Given the description of an element on the screen output the (x, y) to click on. 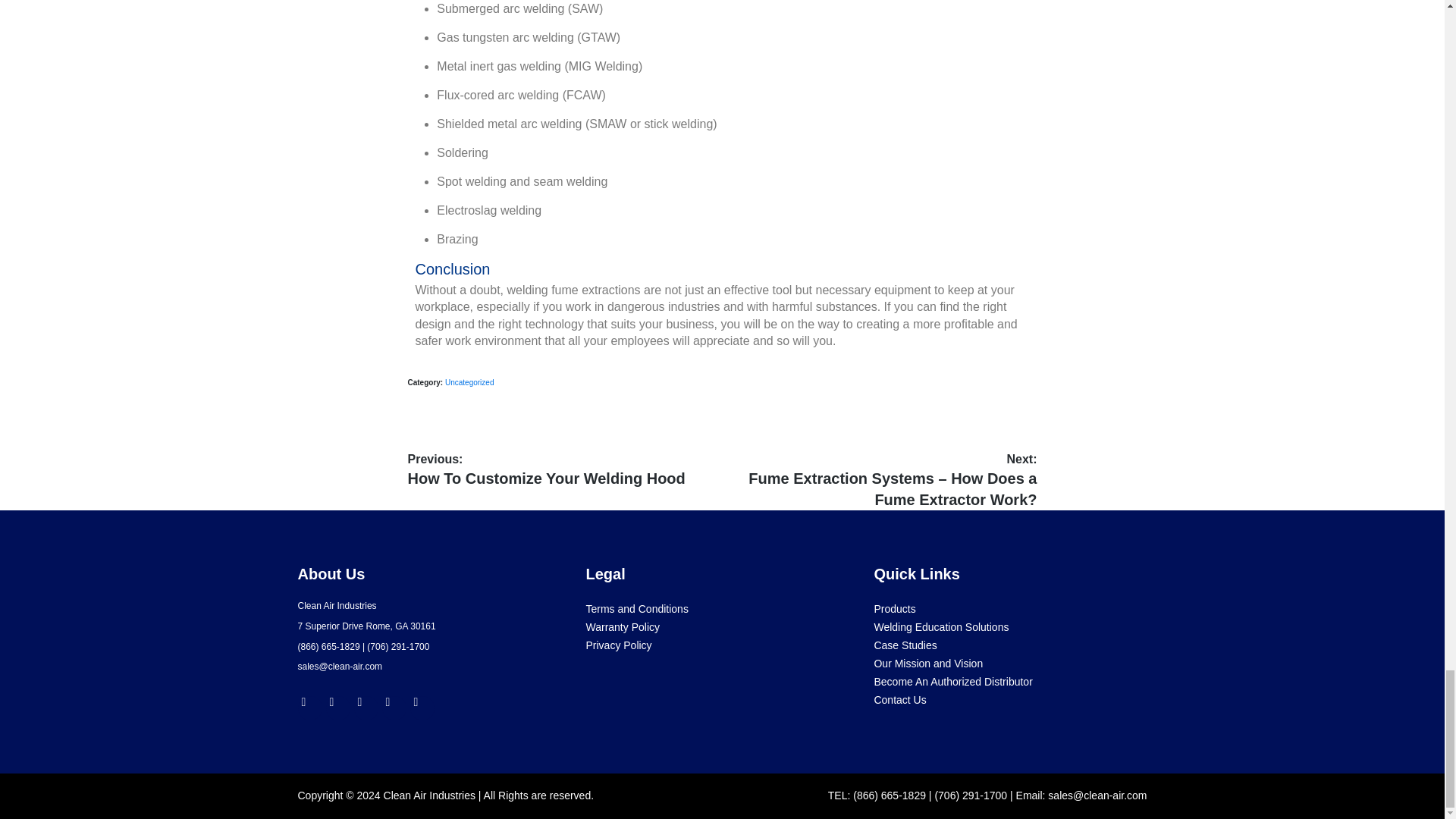
Learn about our privacy policy and how we manage your data (617, 645)
Discover our products (894, 608)
Find ways to contact us (899, 699)
Learn our terms and conditions (636, 608)
Explore some of our success stories (904, 645)
Learn about our commitment to you (927, 663)
